Given the description of an element on the screen output the (x, y) to click on. 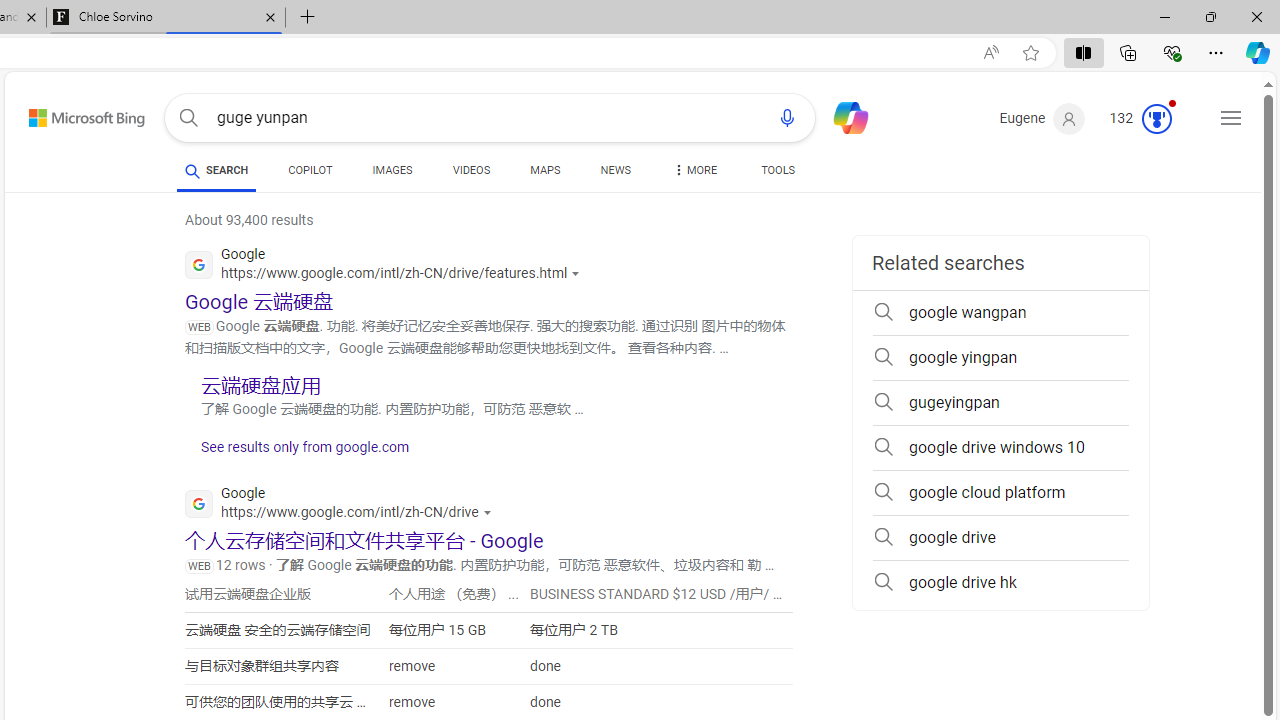
Read aloud this page (Ctrl+Shift+U) (991, 53)
google drive (1000, 538)
Browser essentials (1171, 52)
Skip to content (65, 111)
Close tab (270, 16)
Close (1256, 16)
Chloe Sorvino (166, 17)
COPILOT (310, 173)
gugeyingpan (1000, 402)
google drive windows 10 (1000, 448)
google cloud platform (1000, 492)
Settings and more (Alt+F) (1215, 52)
Collections (1128, 52)
